Given the description of an element on the screen output the (x, y) to click on. 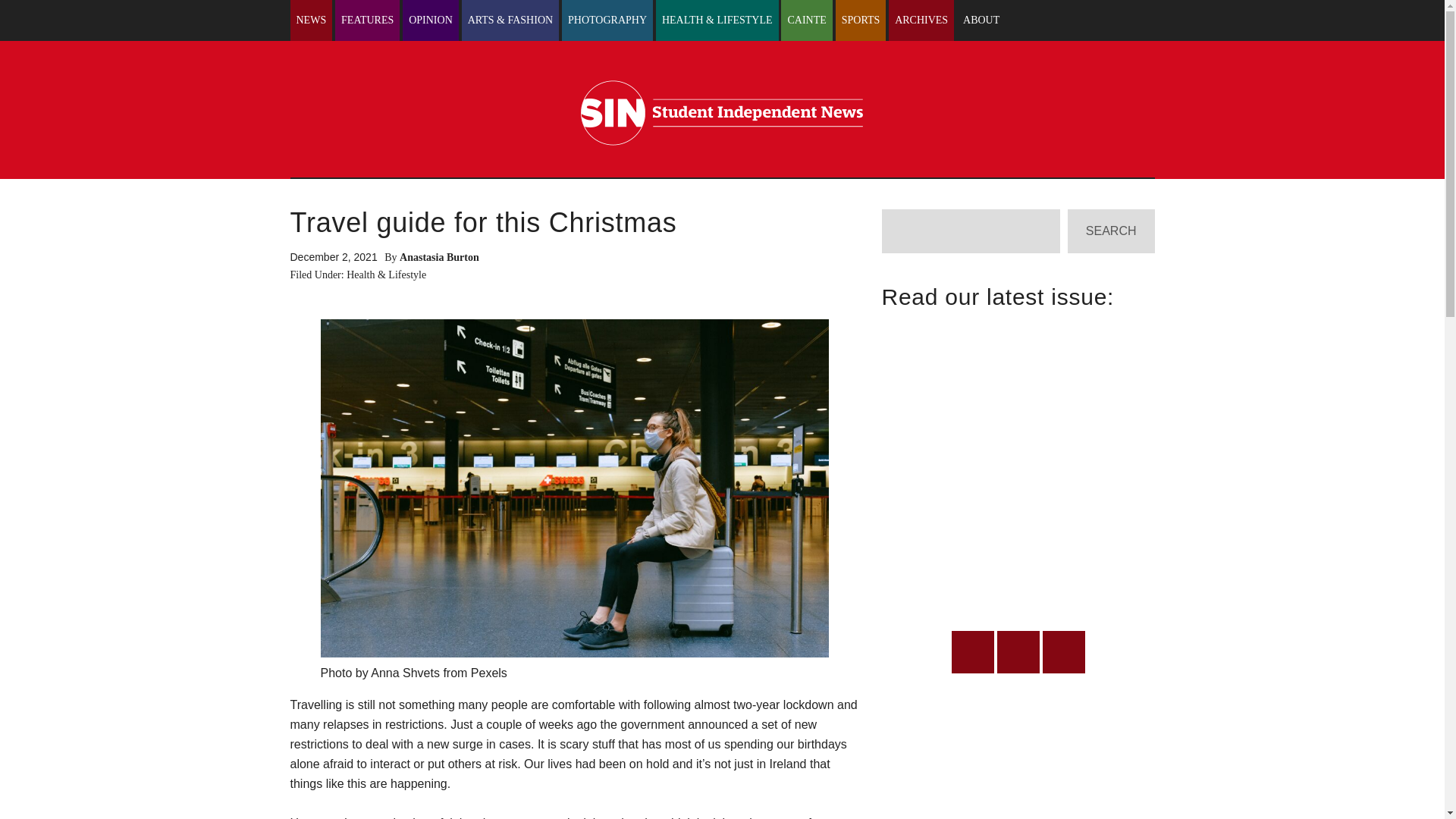
SPORTS (860, 20)
PHOTOGRAPHY (607, 20)
OPINION (430, 20)
CAINTE (805, 20)
FEATURES (366, 20)
NEWS (310, 20)
